Given the description of an element on the screen output the (x, y) to click on. 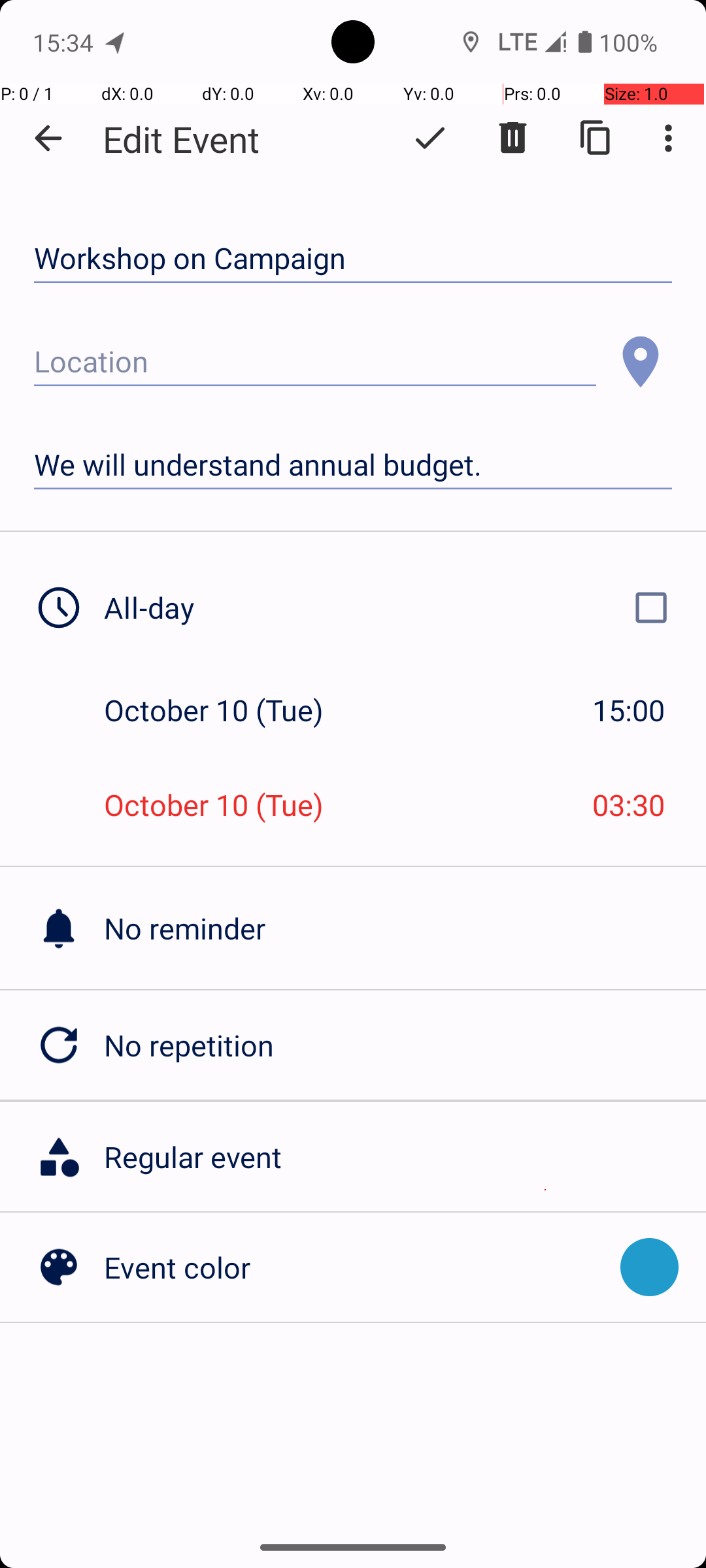
We will understand annual budget. Element type: android.widget.EditText (352, 465)
October 10 (Tue) Element type: android.widget.TextView (227, 709)
03:30 Element type: android.widget.TextView (628, 804)
